Given the description of an element on the screen output the (x, y) to click on. 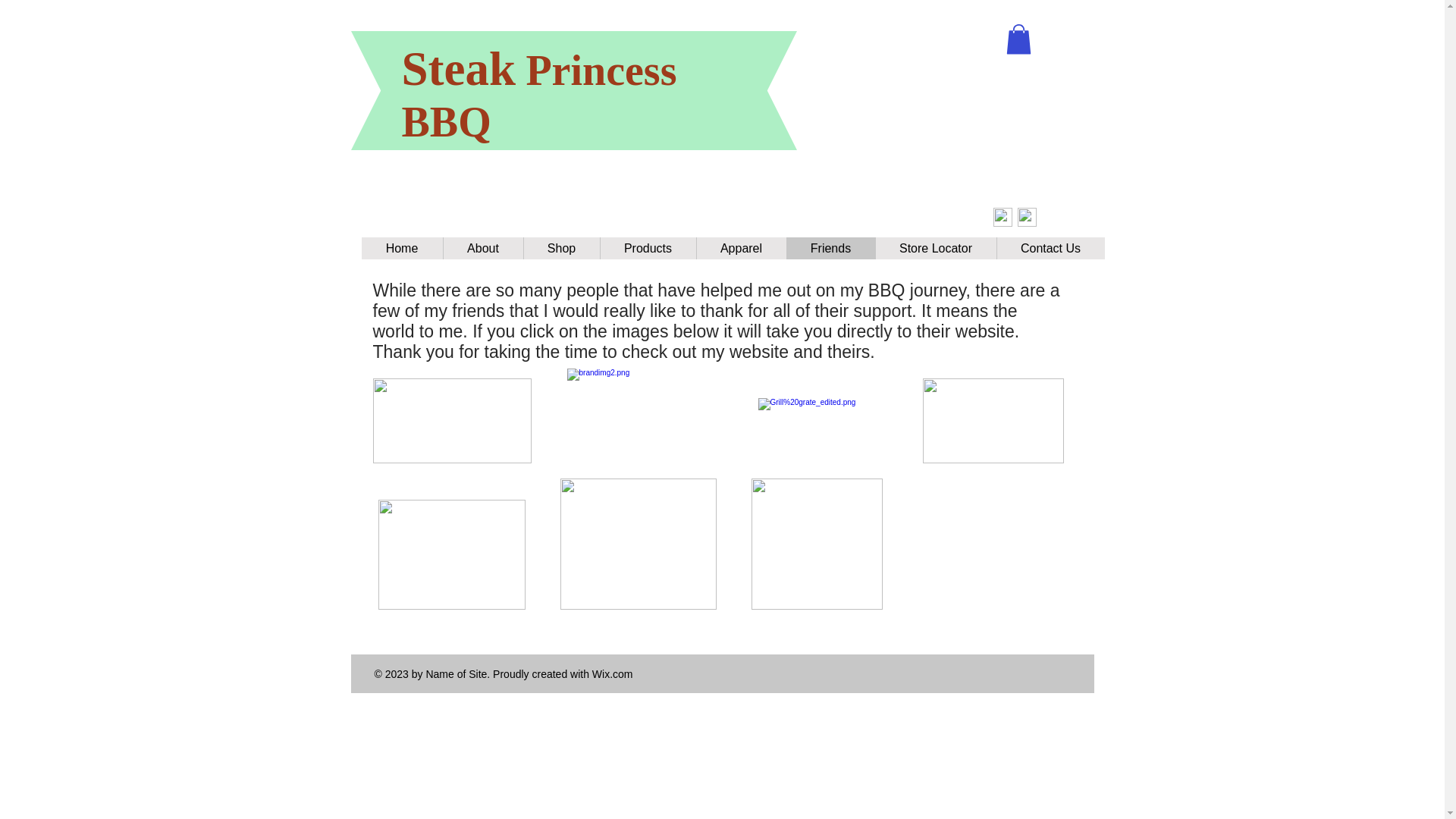
Home (401, 248)
bamaq.png (816, 543)
Steak (458, 68)
Bama1.jpeg (637, 543)
Products (646, 248)
Yes Dear.jpeg (450, 554)
Friends (830, 248)
Princess BBQ (539, 95)
Apparel (740, 248)
Em Express.jpeg (991, 420)
